Given the description of an element on the screen output the (x, y) to click on. 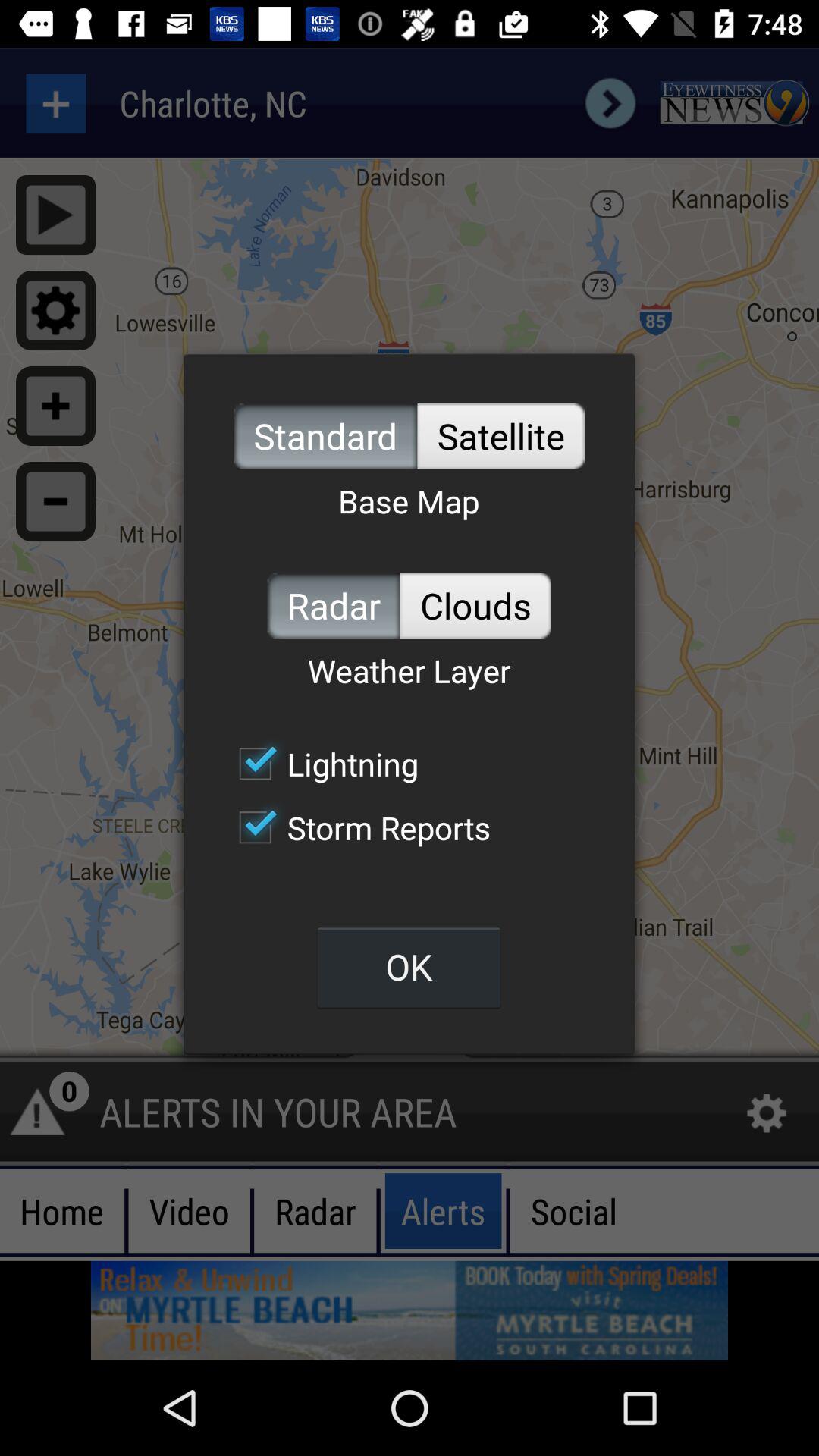
click the clouds icon (475, 605)
